Given the description of an element on the screen output the (x, y) to click on. 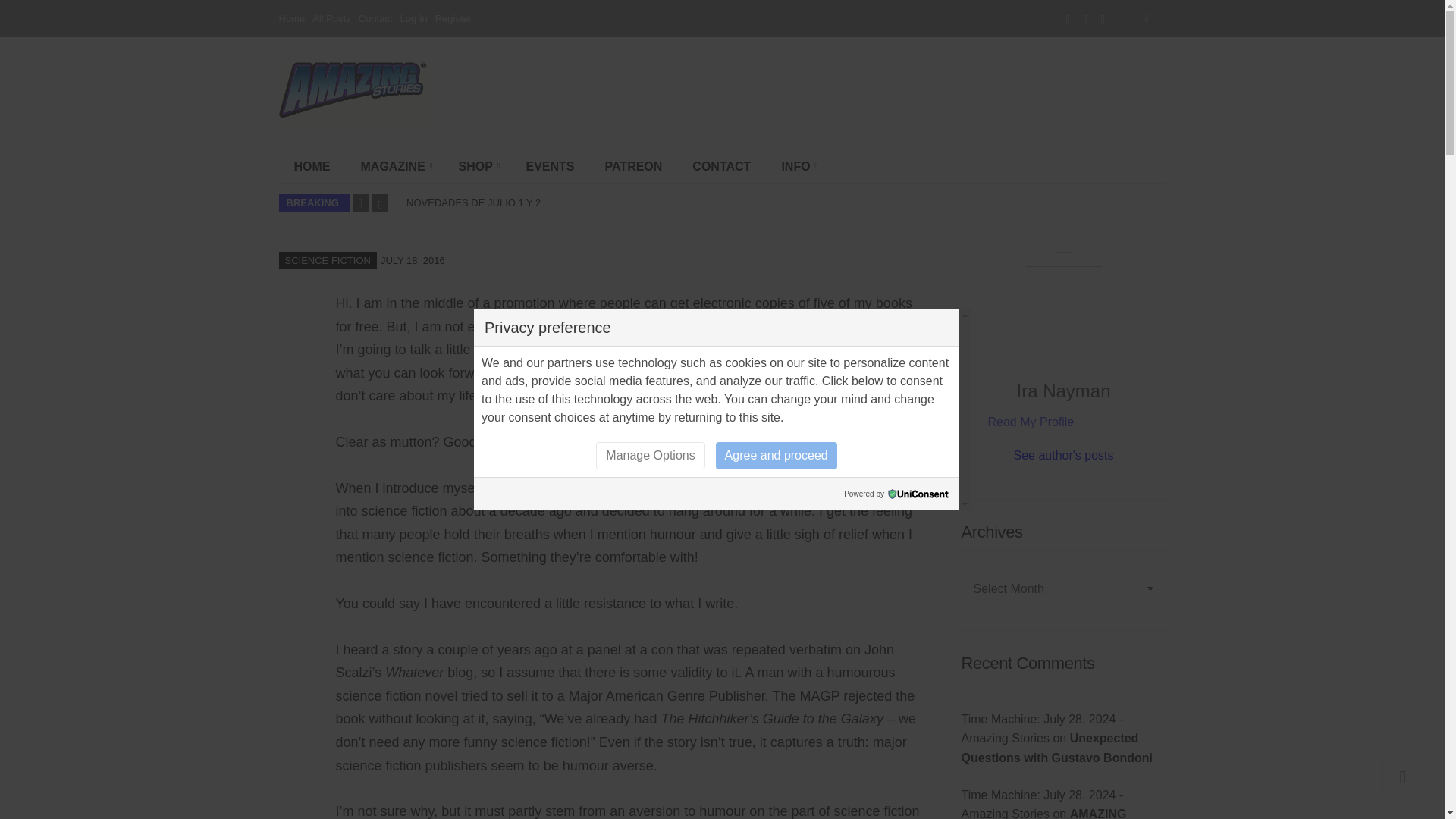
Facebook (1068, 18)
MAGAZINE (395, 166)
PATREON (633, 166)
GDPR CMP - Cookie Consent Manager (918, 493)
Home (292, 18)
INFO (796, 166)
Log In (414, 18)
Contact (375, 18)
RSS (1102, 18)
CONTACT (721, 166)
SHOP (476, 166)
EVENTS (550, 166)
Register (453, 18)
GDPR CMP - Cookie Consent Manager (918, 493)
All Posts (331, 18)
